Given the description of an element on the screen output the (x, y) to click on. 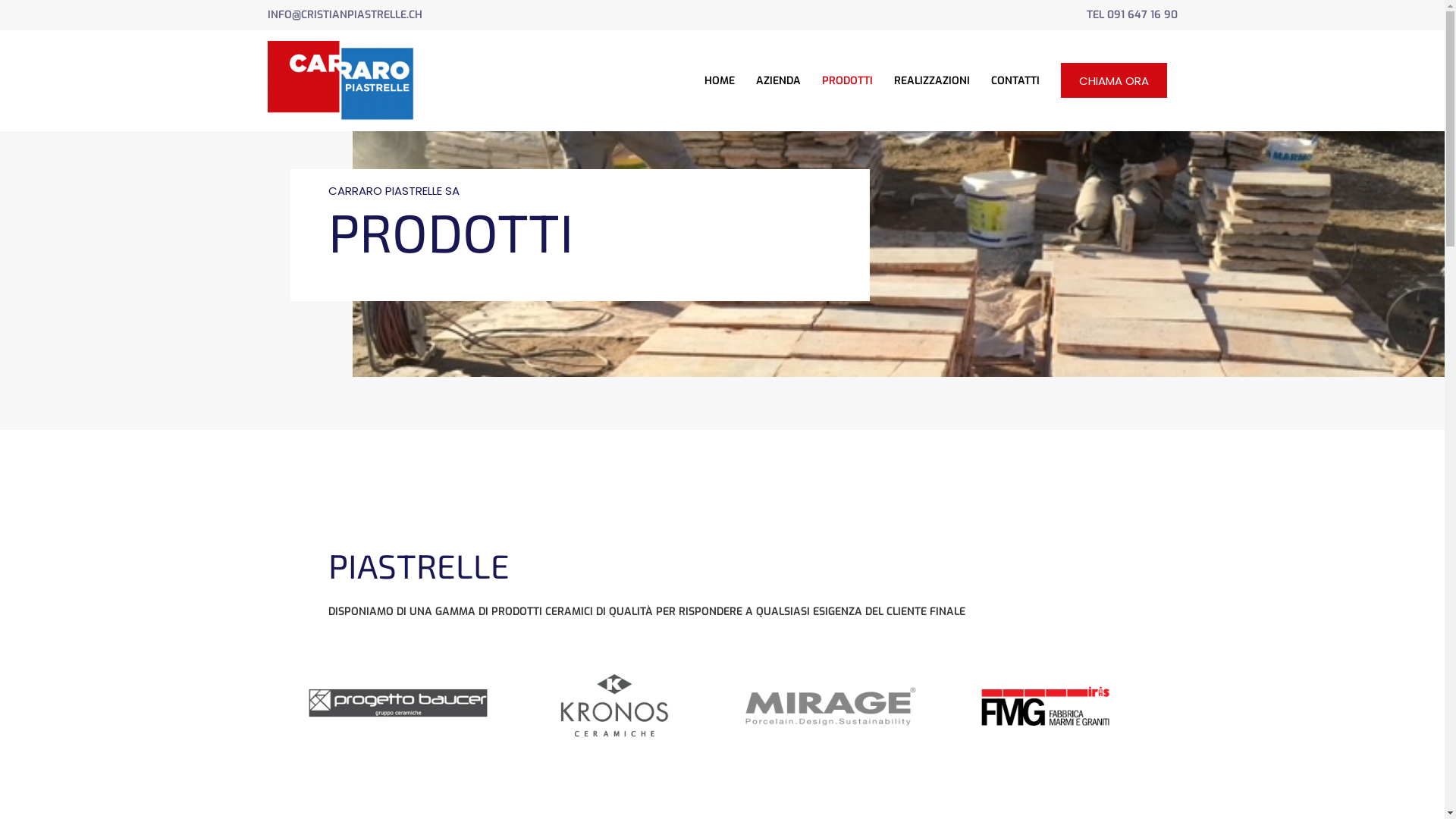
CHIAMA ORA Element type: text (1113, 80)
REALIZZAZIONI Element type: text (930, 80)
CHIAMA ORA Element type: text (1113, 79)
HOME Element type: text (718, 80)
PRODOTTI Element type: text (847, 80)
CONTATTI Element type: text (1014, 80)
AZIENDA Element type: text (777, 80)
